Given the description of an element on the screen output the (x, y) to click on. 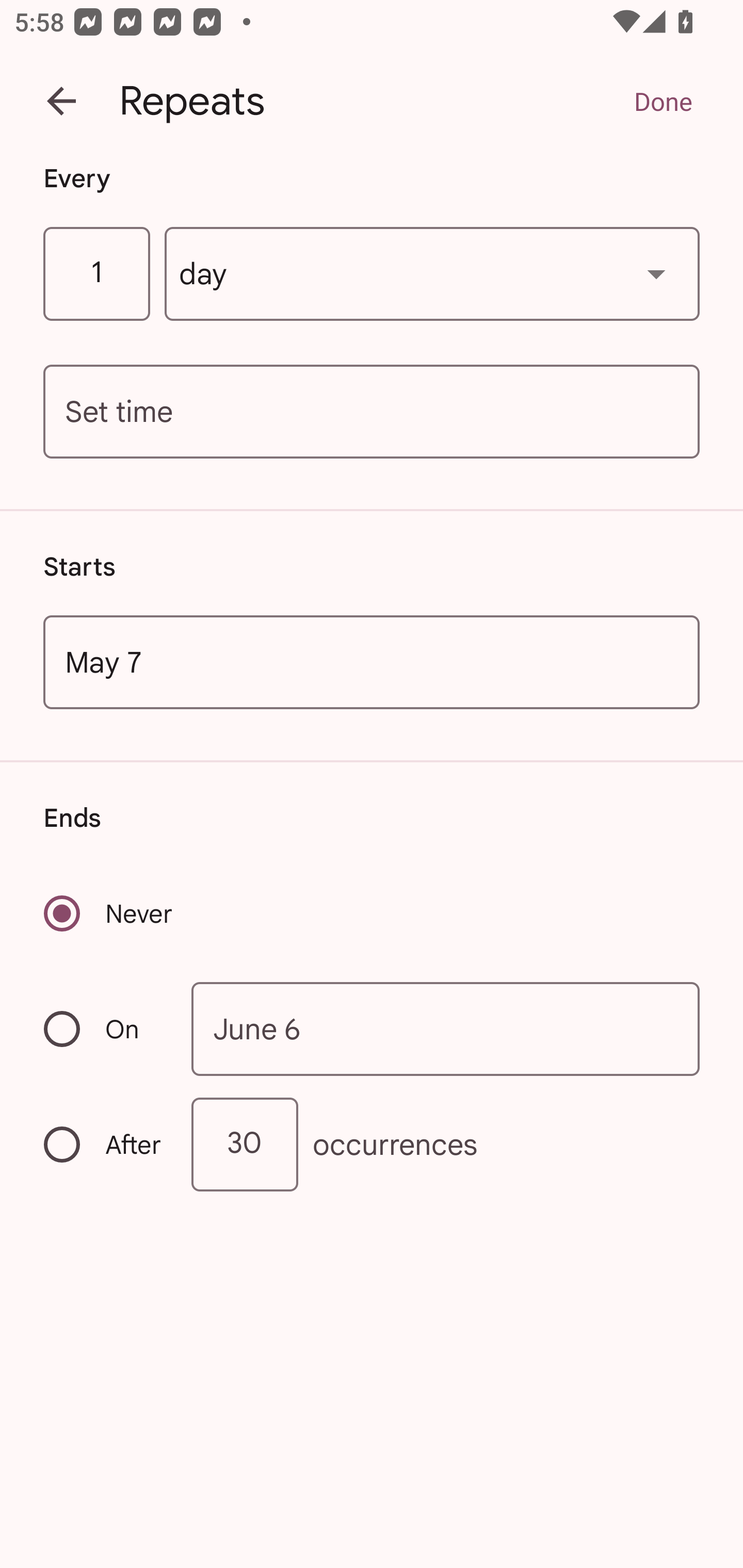
Back (61, 101)
Done (663, 101)
1 (96, 274)
day (431, 274)
Show dropdown menu (655, 273)
Set time (371, 411)
May 7 (371, 661)
Never Recurrence never ends (109, 913)
June 6 (445, 1028)
On Recurrence ends on a specific date (104, 1029)
30 (244, 1144)
